Given the description of an element on the screen output the (x, y) to click on. 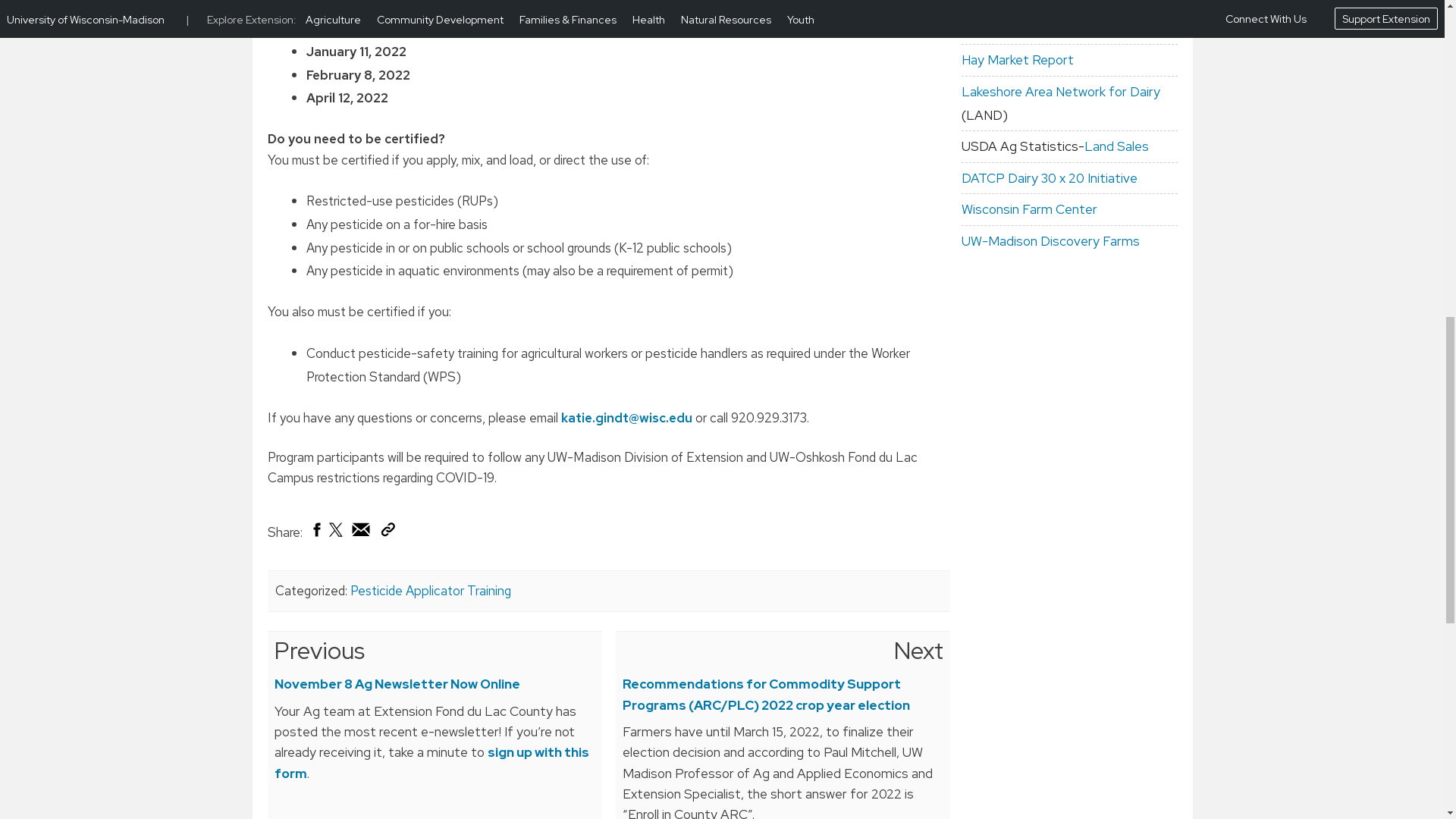
Lakeshore Area Network for Dairy (1060, 91)
Copy Link (387, 528)
Hay Market Report (1017, 59)
Pesticide Applicator Training (430, 590)
Share via Email (361, 528)
Land Sales (1116, 146)
Share via Email (361, 532)
Previous (320, 650)
sign up with this form (432, 762)
November 8 Ag Newsletter Now Online (397, 683)
Farmer-to-Farmer (1015, 6)
Copy Link (387, 532)
Next (917, 650)
